Given the description of an element on the screen output the (x, y) to click on. 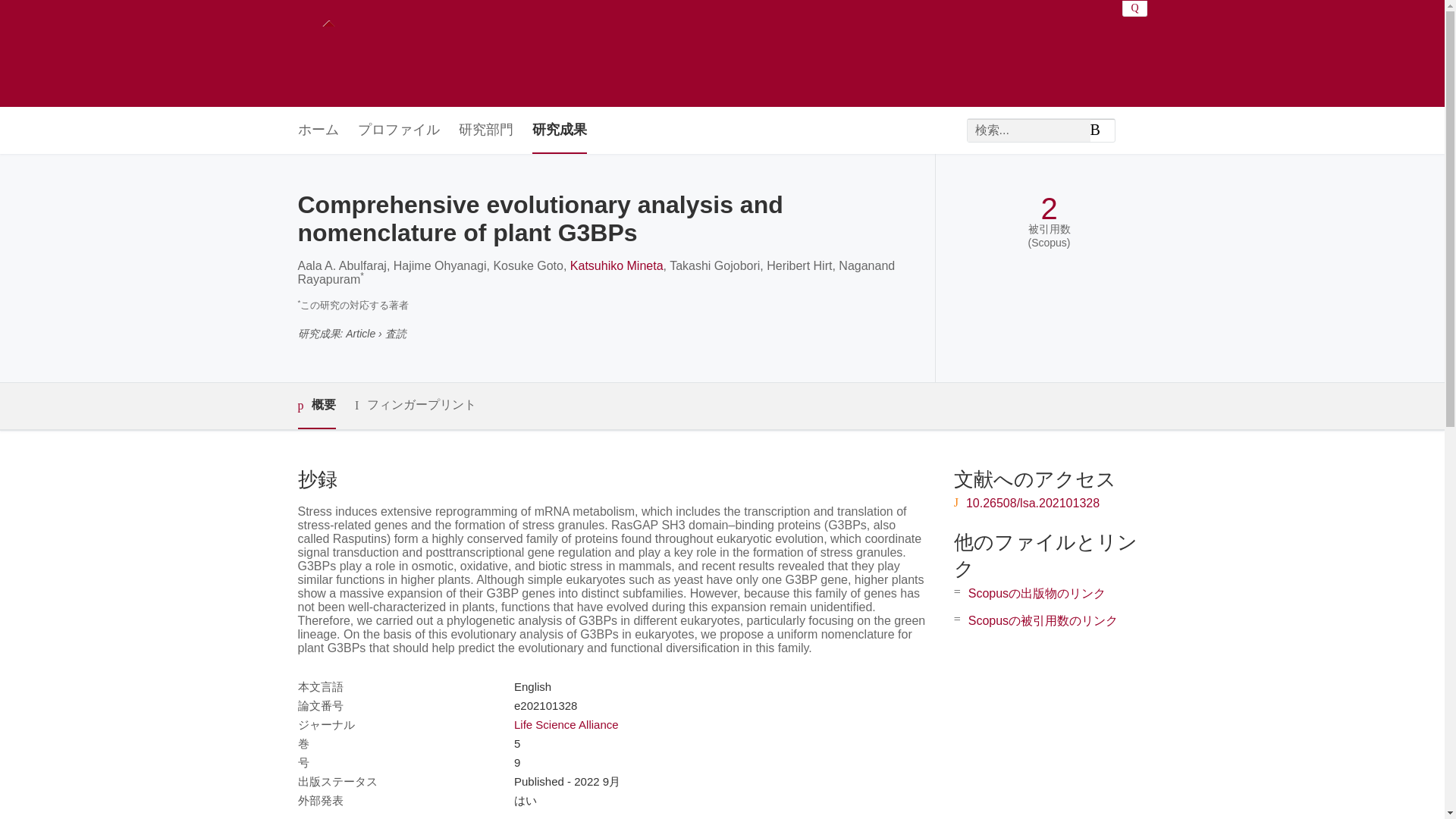
Life Science Alliance (565, 724)
Katsuhiko Mineta (616, 265)
2 (1049, 208)
